Given the description of an element on the screen output the (x, y) to click on. 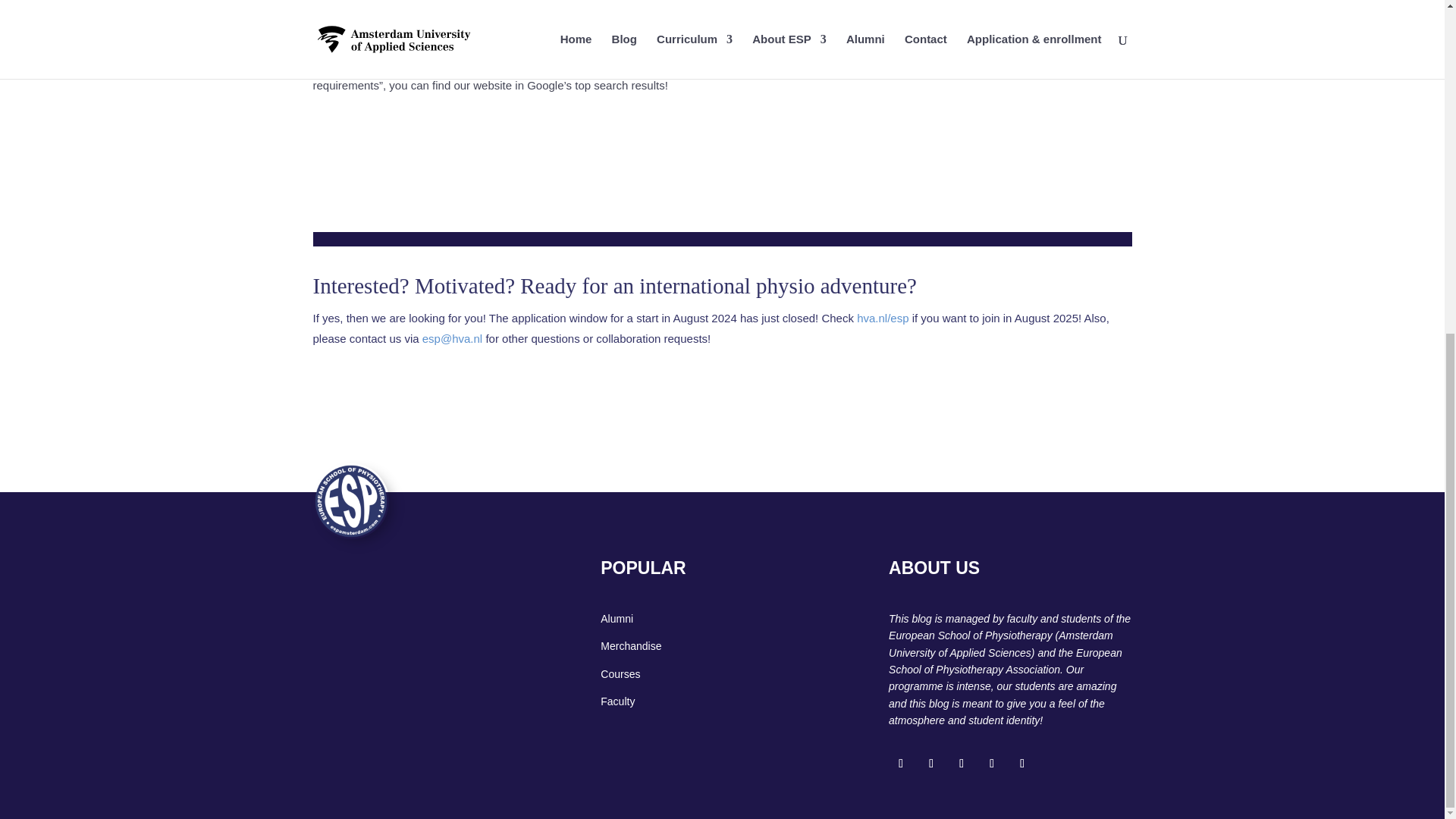
Courses (619, 674)
Follow on Facebook (900, 763)
Follow on Youtube (991, 763)
Follow on Instagram (961, 763)
Follow on LinkedIn (1021, 763)
Merchandise (630, 645)
Alumni (616, 618)
Faculty (616, 701)
Follow on X (930, 763)
International PT Requirements (749, 11)
